Given the description of an element on the screen output the (x, y) to click on. 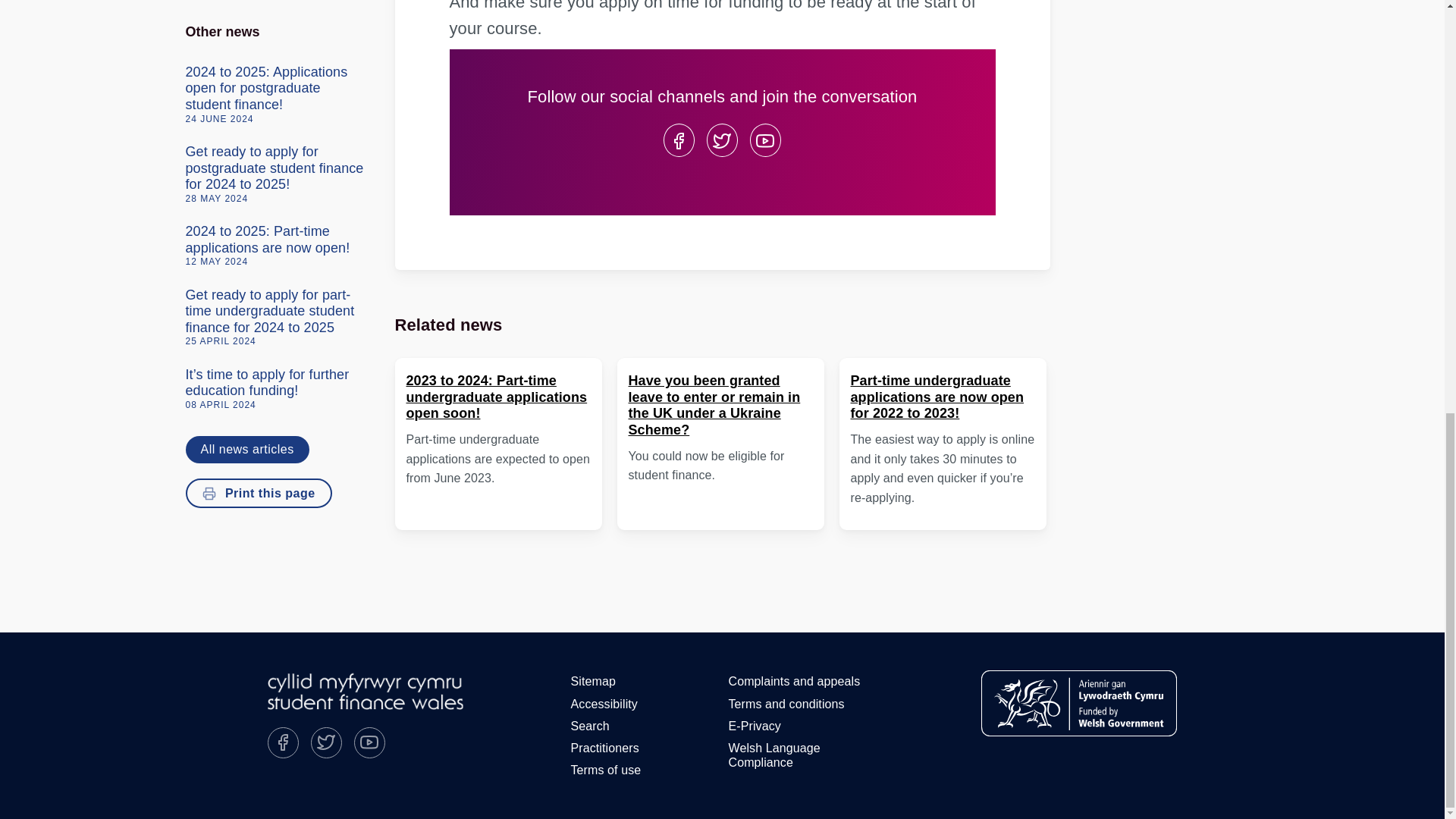
Subscribe on YouTube (764, 139)
Follow us on Twitter (326, 742)
Sitemap (592, 681)
Search (590, 725)
Like us on Facebook (678, 139)
Subscribe on YouTube (368, 742)
Accessibility (603, 703)
